Given the description of an element on the screen output the (x, y) to click on. 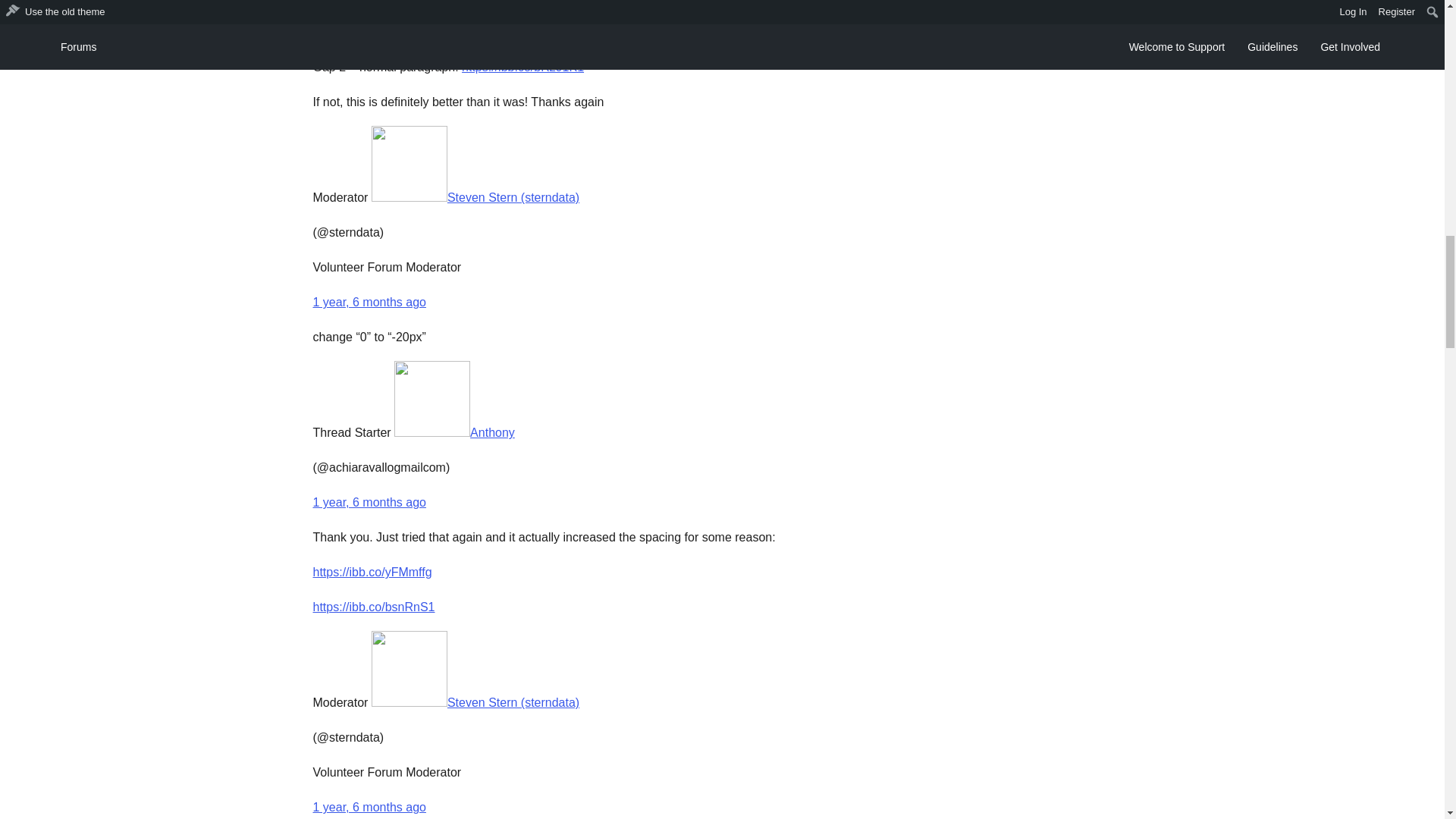
This person created the thread (351, 431)
February 11, 2023 at 8:37 pm (369, 502)
This person is a moderator on this forum (340, 196)
February 11, 2023 at 7:13 pm (369, 301)
View Anthony's profile (454, 431)
This person is a moderator on this forum (340, 702)
